Given the description of an element on the screen output the (x, y) to click on. 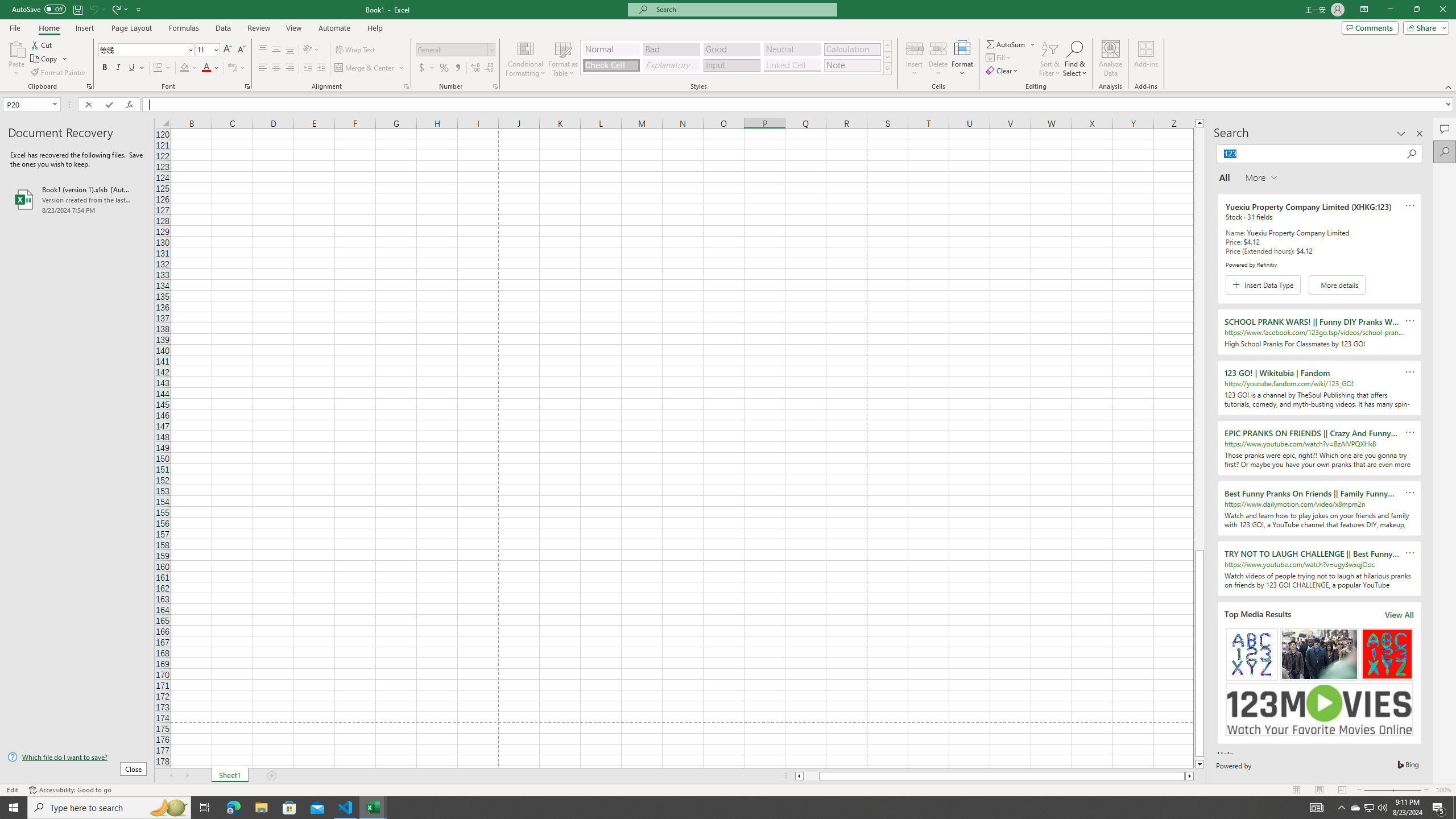
Linked Cell (791, 65)
Italic (118, 67)
Align Left (262, 67)
Calculation (852, 49)
Orientation (311, 49)
Copy (49, 58)
Wrap Text (355, 49)
Decrease Decimal (489, 67)
